Given the description of an element on the screen output the (x, y) to click on. 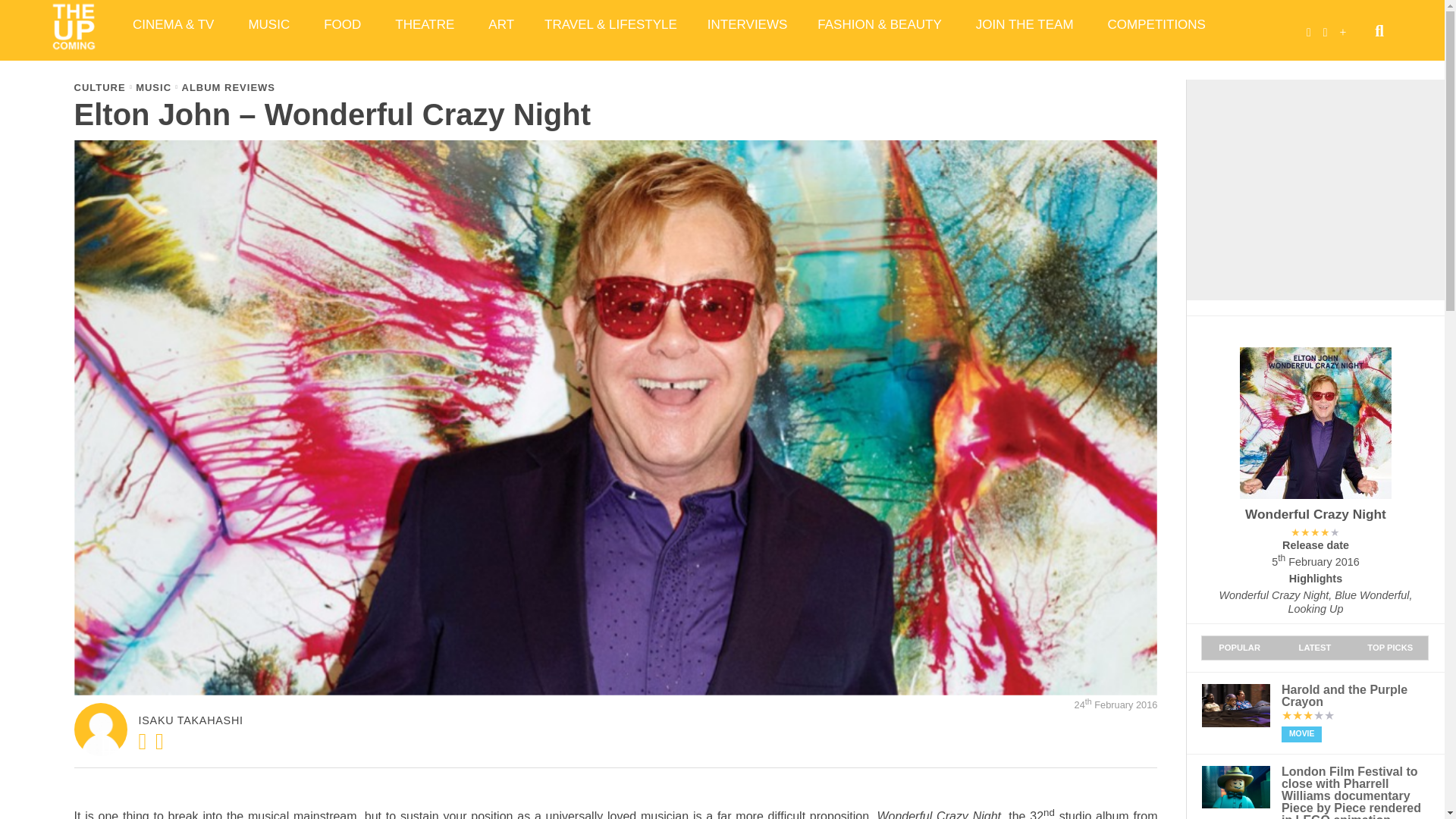
ART (501, 24)
FOOD (344, 24)
THEATRE (426, 24)
MUSIC (270, 24)
INTERVIEWS (747, 24)
JOIN THE TEAM (1026, 24)
